Given the description of an element on the screen output the (x, y) to click on. 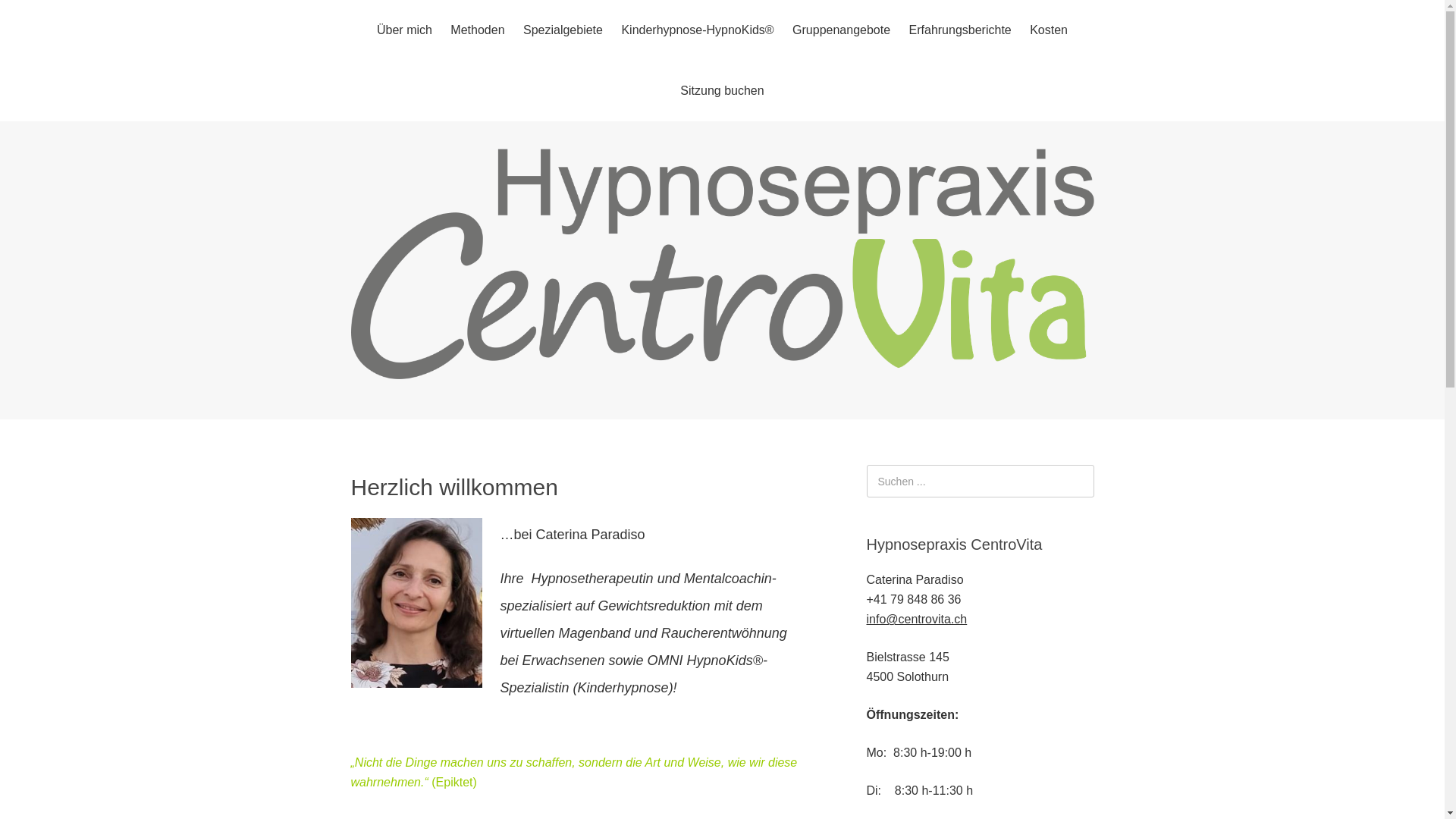
Methoden Element type: text (476, 30)
Suchen nach: Element type: hover (979, 480)
centrovita Element type: hover (721, 367)
Sitzung buchen Element type: text (721, 90)
Erfahrungsberichte Element type: text (960, 30)
Spezialgebiete Element type: text (562, 30)
Suchen Element type: text (0, 0)
info@centrovita.ch Element type: text (916, 618)
Gruppenangebote Element type: text (840, 30)
Kosten Element type: text (1048, 30)
